Given the description of an element on the screen output the (x, y) to click on. 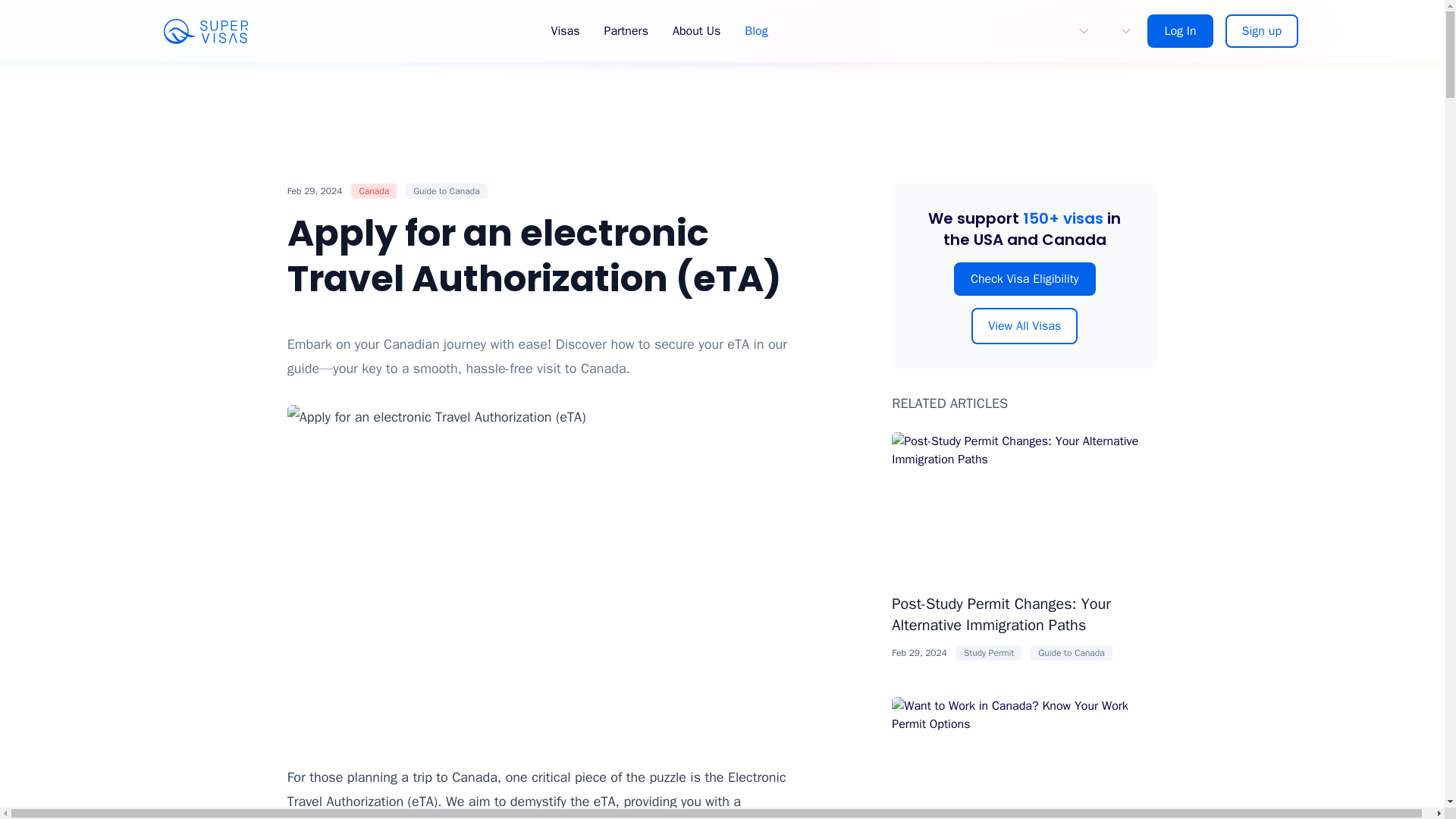
Partners (625, 30)
About Us (696, 30)
Check Visa Eligibility (1024, 278)
View All Visas (1024, 325)
Log In (1179, 30)
Sign up (1261, 30)
Blog (755, 30)
Visas (564, 30)
